Given the description of an element on the screen output the (x, y) to click on. 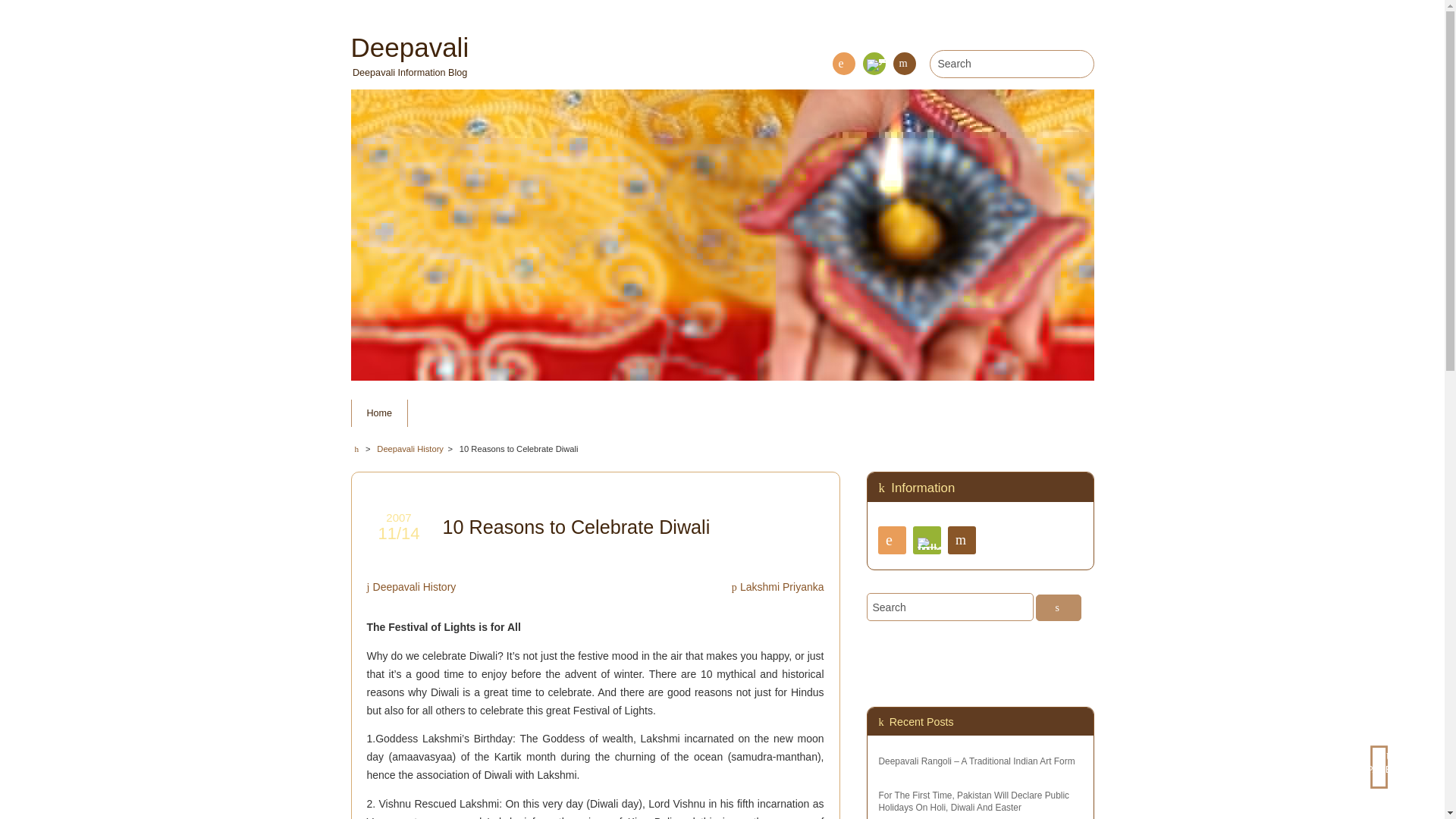
Feedly (874, 63)
Contact (961, 540)
Contact (904, 63)
PAGE TOP (1389, 766)
Lakshmi Priyanka (778, 586)
Deepavali History (410, 448)
Contact (904, 63)
Search (949, 606)
Search (1058, 607)
RSS (891, 540)
